Given the description of an element on the screen output the (x, y) to click on. 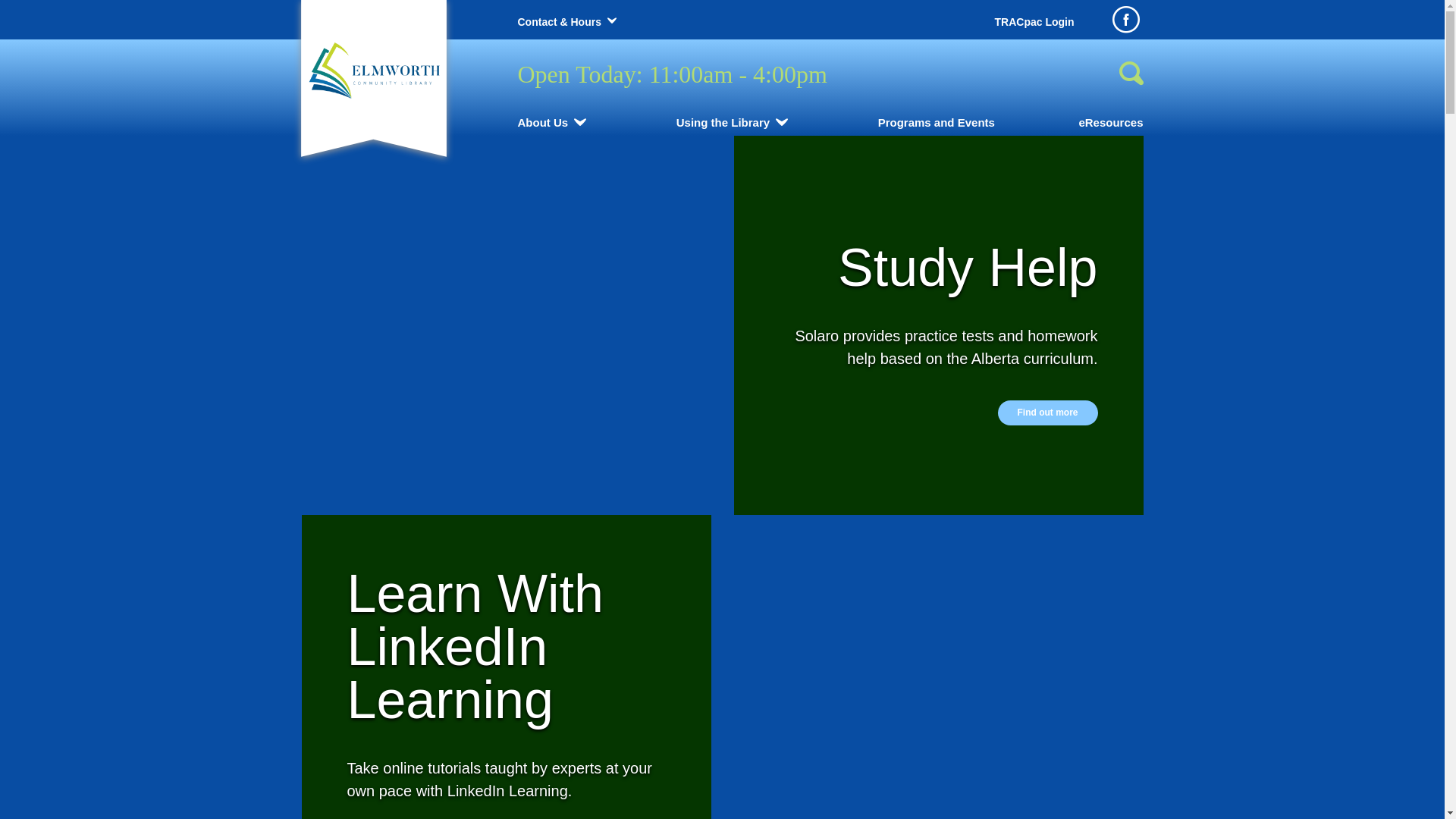
Find out more Element type: text (1047, 412)
Contact & Hours Element type: text (558, 21)
Elmworth Community Library Element type: hover (372, 69)
TRACpac Login Element type: text (1034, 21)
Facebook Element type: hover (1125, 19)
Using the Library Element type: text (722, 122)
eResources Element type: text (1110, 122)
Programs and Events Element type: text (936, 122)
About Us Element type: text (542, 122)
